Given the description of an element on the screen output the (x, y) to click on. 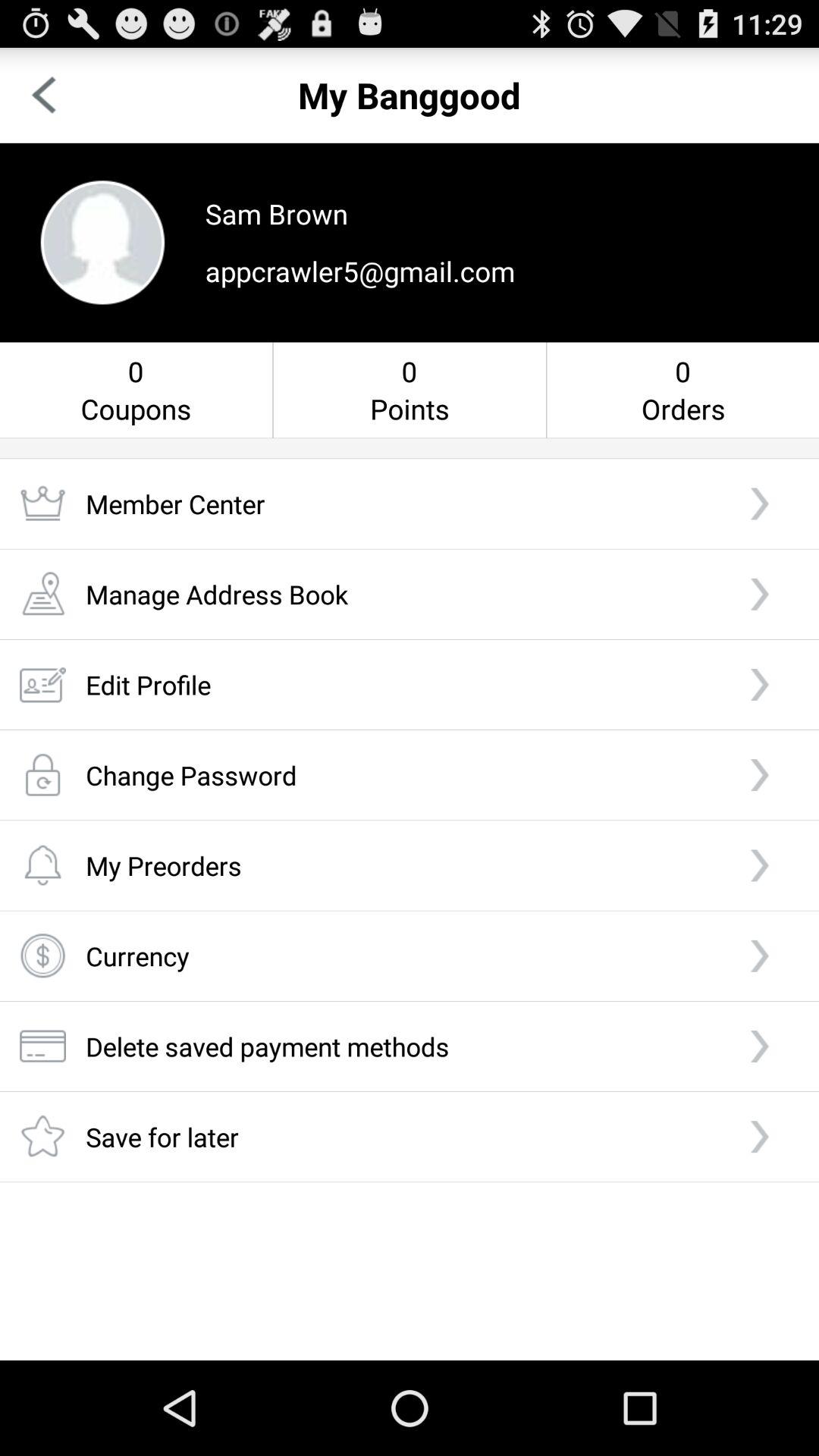
view my profile (102, 242)
